Given the description of an element on the screen output the (x, y) to click on. 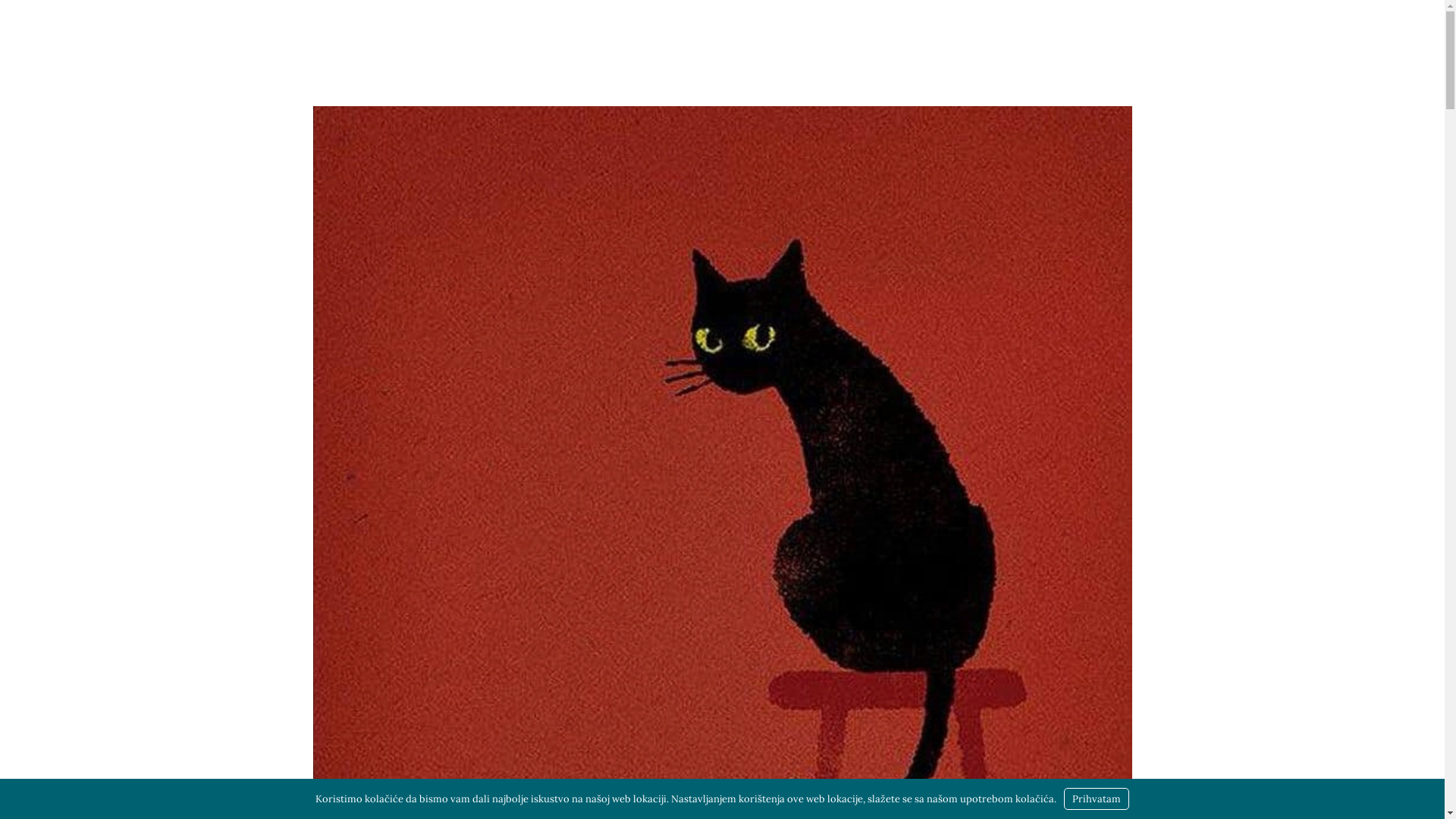
Pretraga Element type: text (18, 18)
Prihvatam Element type: text (1096, 798)
